Given the description of an element on the screen output the (x, y) to click on. 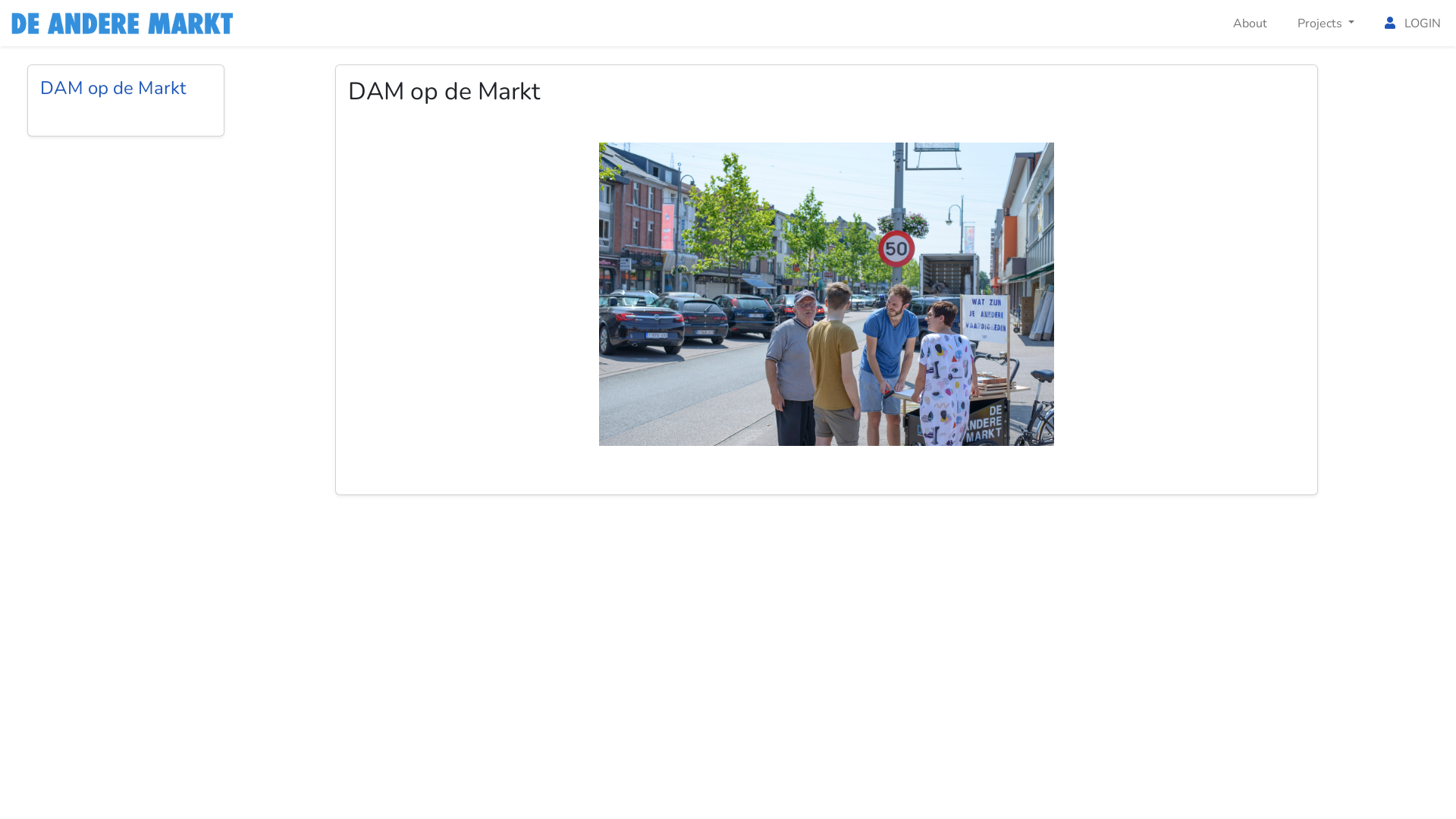
LOGIN Element type: text (1412, 22)
Projects Element type: text (1325, 22)
About Element type: text (1249, 22)
DAM op de Markt Element type: text (125, 91)
